Given the description of an element on the screen output the (x, y) to click on. 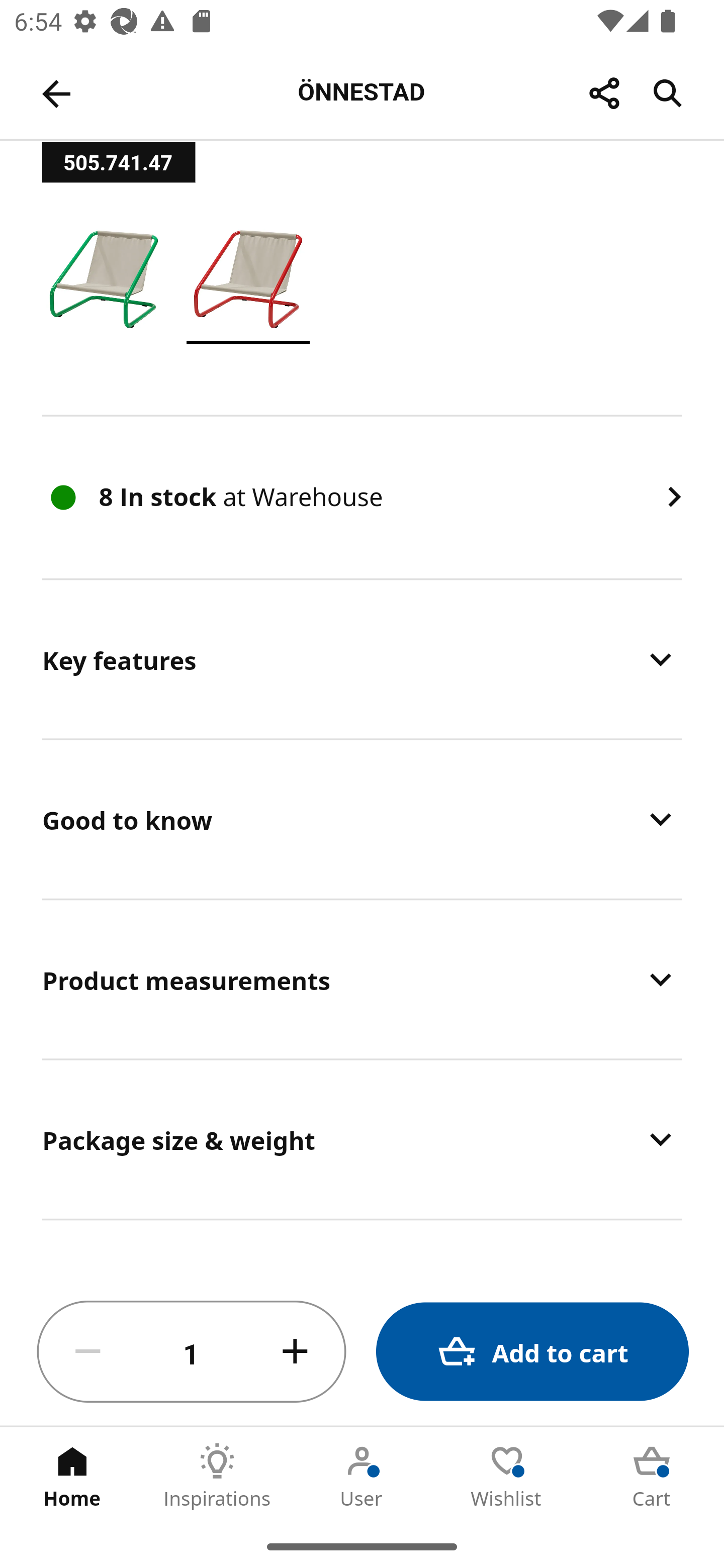
8 In stock at Warehouse (361, 497)
Key features (361, 658)
Good to know (361, 818)
Product measurements (361, 978)
Package size & weight (361, 1138)
Add to cart (531, 1352)
1 (191, 1352)
Home
Tab 1 of 5 (72, 1476)
Inspirations
Tab 2 of 5 (216, 1476)
User
Tab 3 of 5 (361, 1476)
Wishlist
Tab 4 of 5 (506, 1476)
Cart
Tab 5 of 5 (651, 1476)
